Given the description of an element on the screen output the (x, y) to click on. 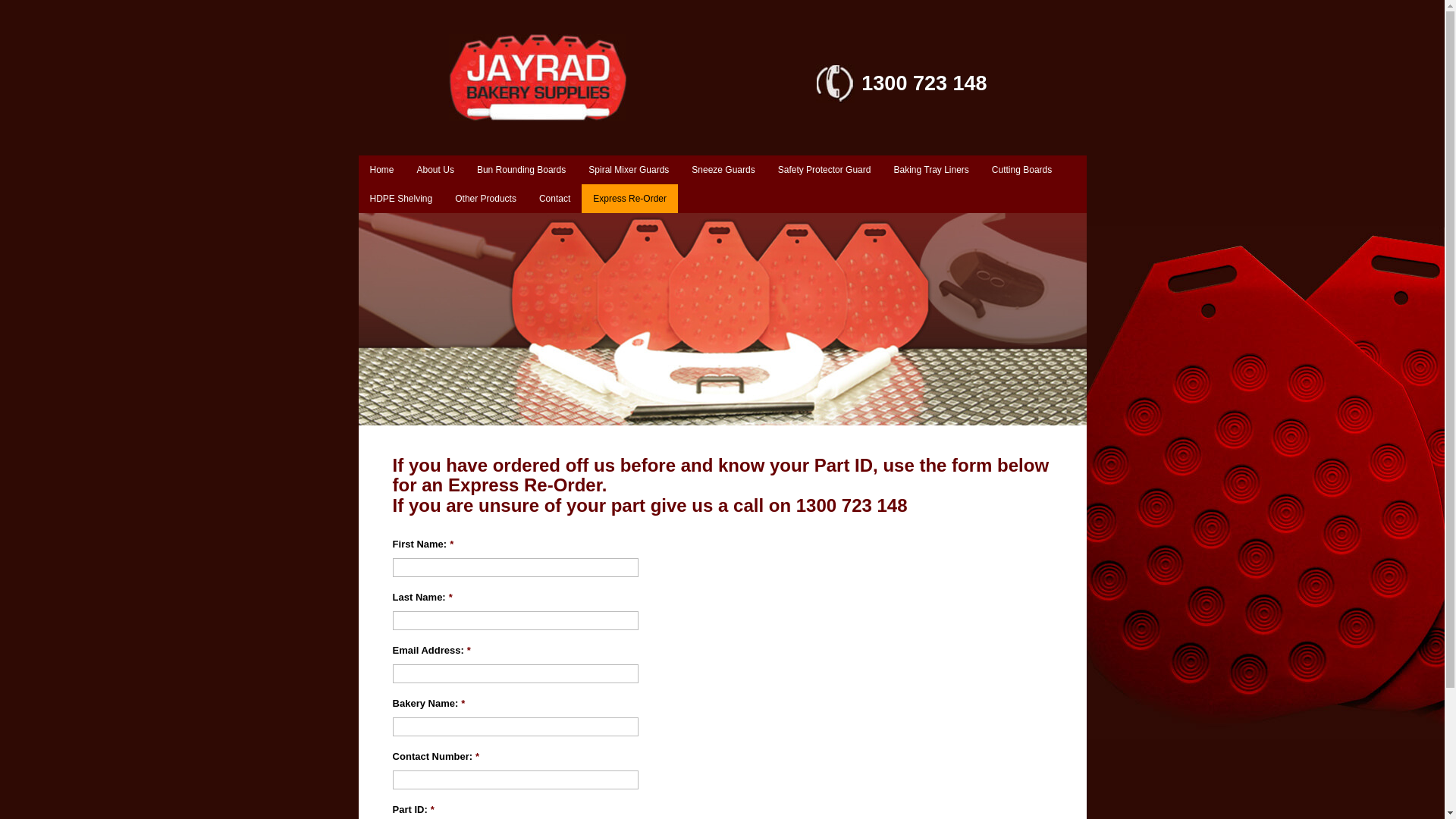
Contact Element type: text (554, 198)
Home Element type: text (380, 169)
Safety Protector Guard Element type: text (824, 169)
Express Re-Order Element type: text (629, 198)
Spiral Mixer Guards Element type: text (628, 169)
Baking Tray Liners Element type: text (930, 169)
About Us Element type: text (435, 169)
Other Products Element type: text (485, 198)
Bun Rounding Boards Element type: text (521, 169)
Cutting Boards Element type: text (1021, 169)
Sneeze Guards Element type: text (722, 169)
1300 723 148 Element type: text (901, 98)
HDPE Shelving Element type: text (400, 198)
